Given the description of an element on the screen output the (x, y) to click on. 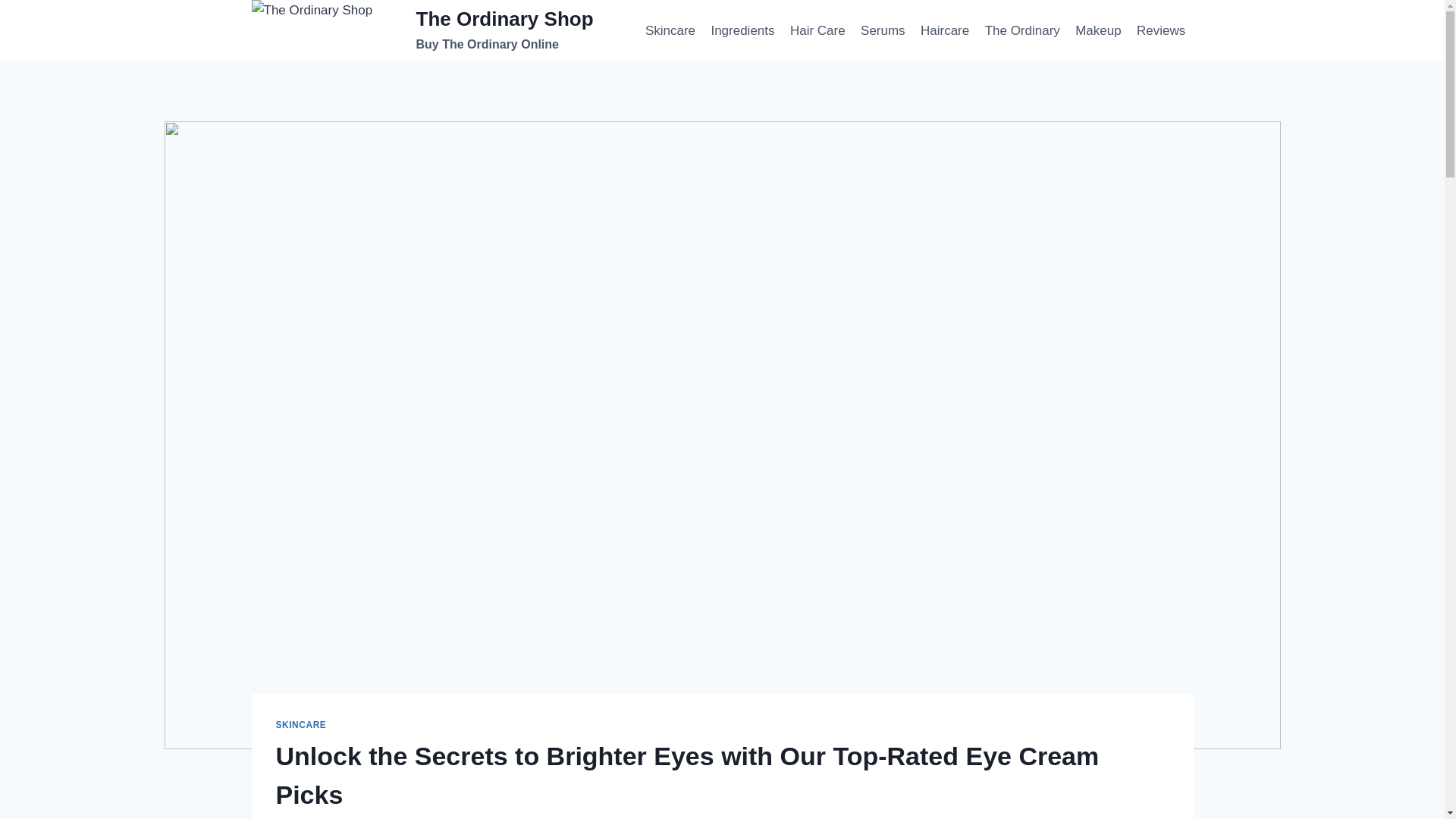
Serums (882, 29)
SKINCARE (301, 724)
Haircare (944, 29)
Hair Care (818, 29)
The Ordinary (1021, 29)
Makeup (1098, 29)
Ingredients (743, 29)
Reviews (1161, 29)
Skincare (422, 30)
